Given the description of an element on the screen output the (x, y) to click on. 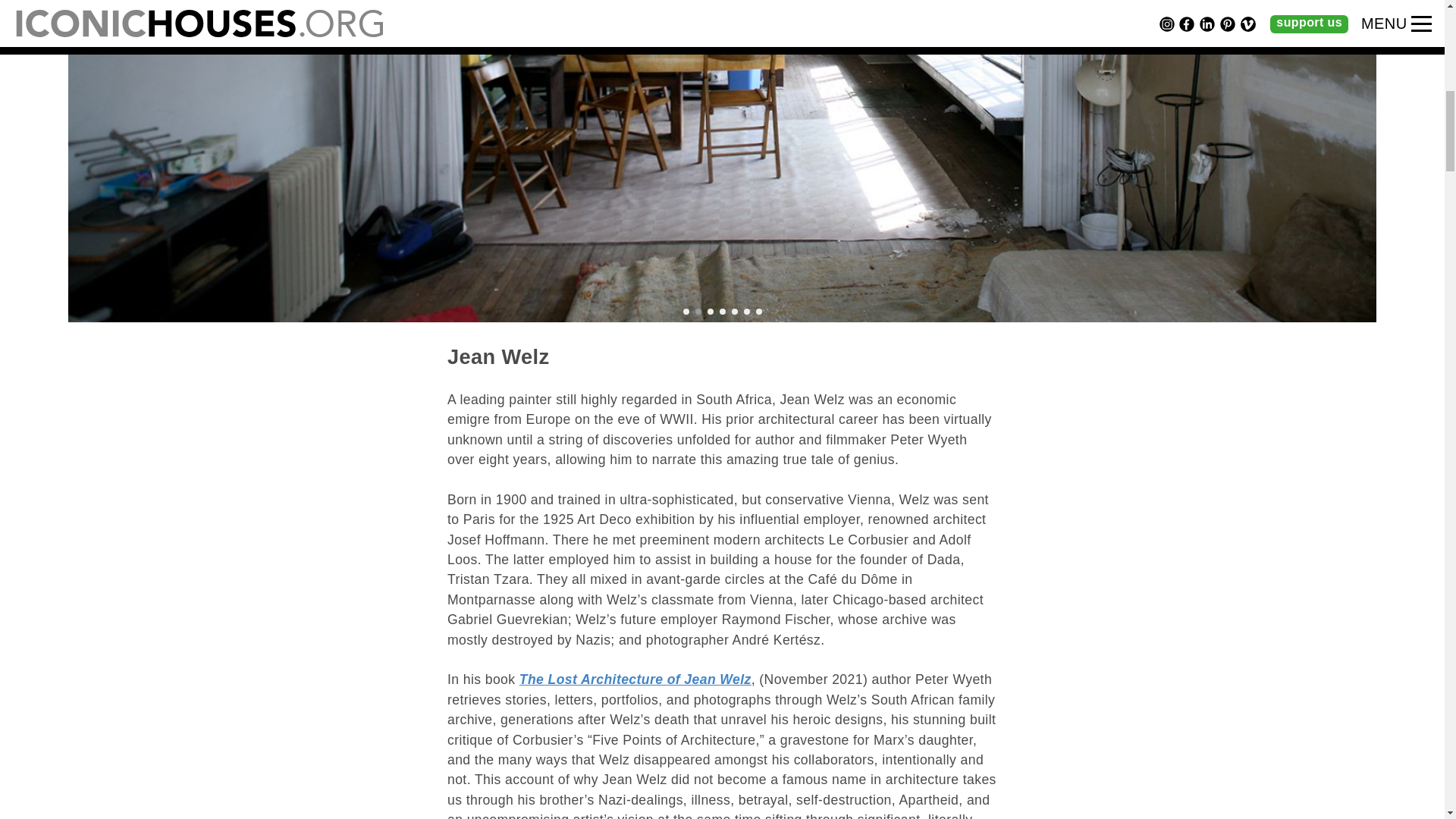
The Lost Architecture of Jean Welz (635, 679)
